Given the description of an element on the screen output the (x, y) to click on. 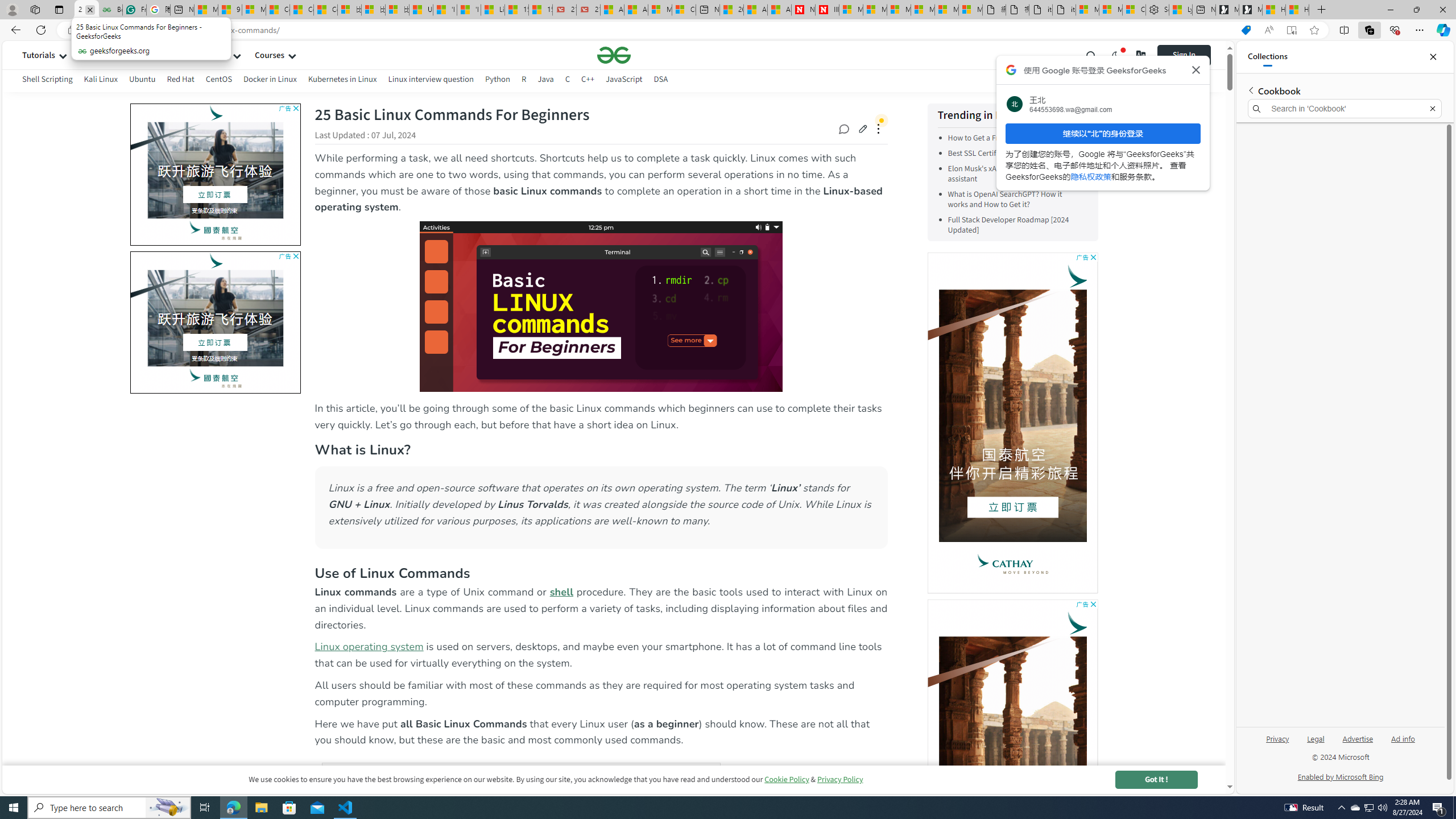
25 Basic Linux Commands For Beginners - GeeksforGeeks (86, 9)
How to Get a Free SSL Certificate (1001, 138)
DSA (660, 79)
Got It ! (1156, 779)
Legal (1315, 738)
Search in 'Cookbook' (1345, 108)
Cloud Computing Services | Microsoft Azure (683, 9)
Shell Scripting (47, 80)
Python (497, 79)
20 Ways to Boost Your Protein Intake at Every Meal (731, 9)
